Given the description of an element on the screen output the (x, y) to click on. 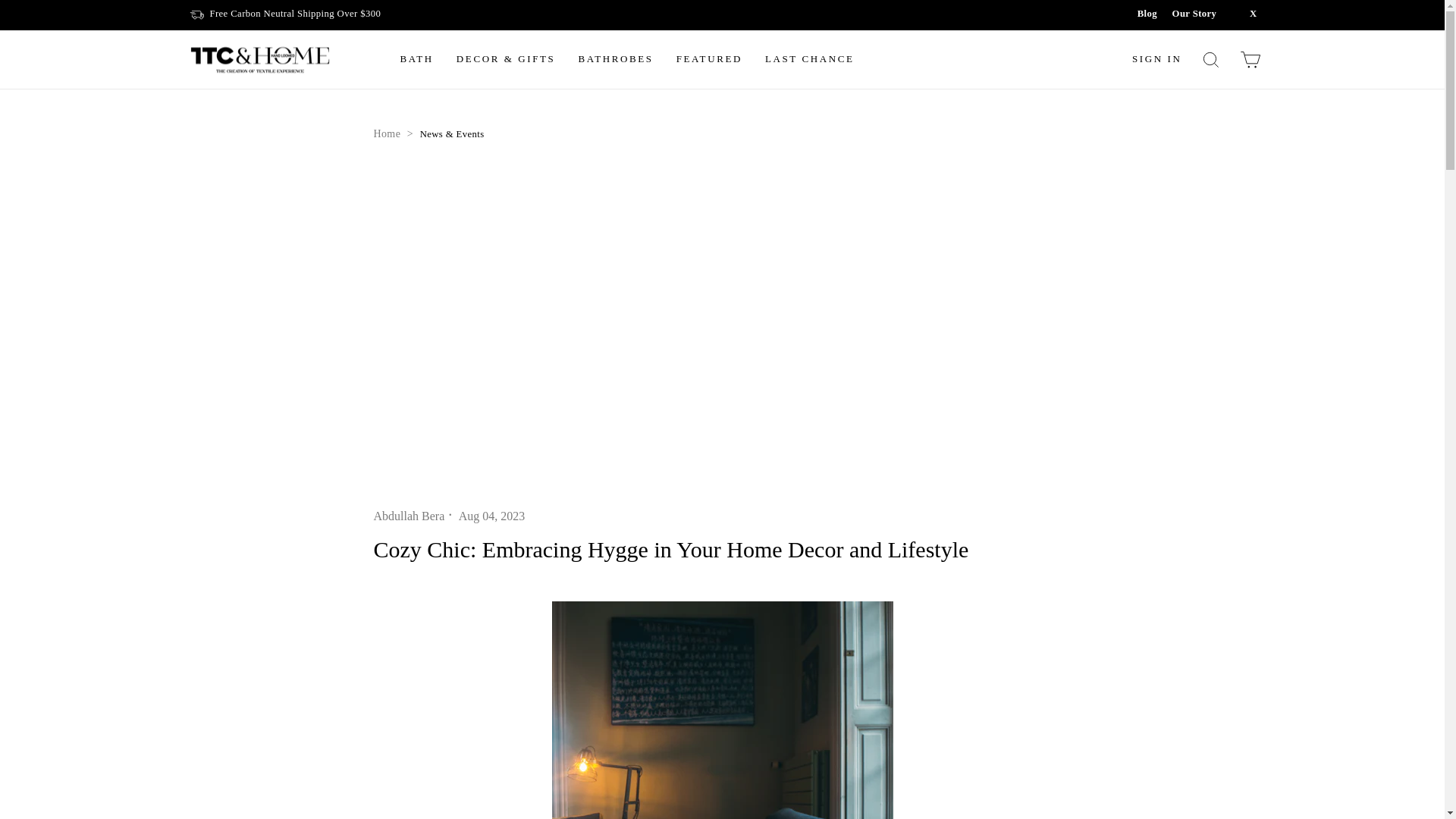
Back to the frontpage (386, 133)
BATH (416, 59)
Our Story (1201, 13)
Blog (1154, 13)
